Given the description of an element on the screen output the (x, y) to click on. 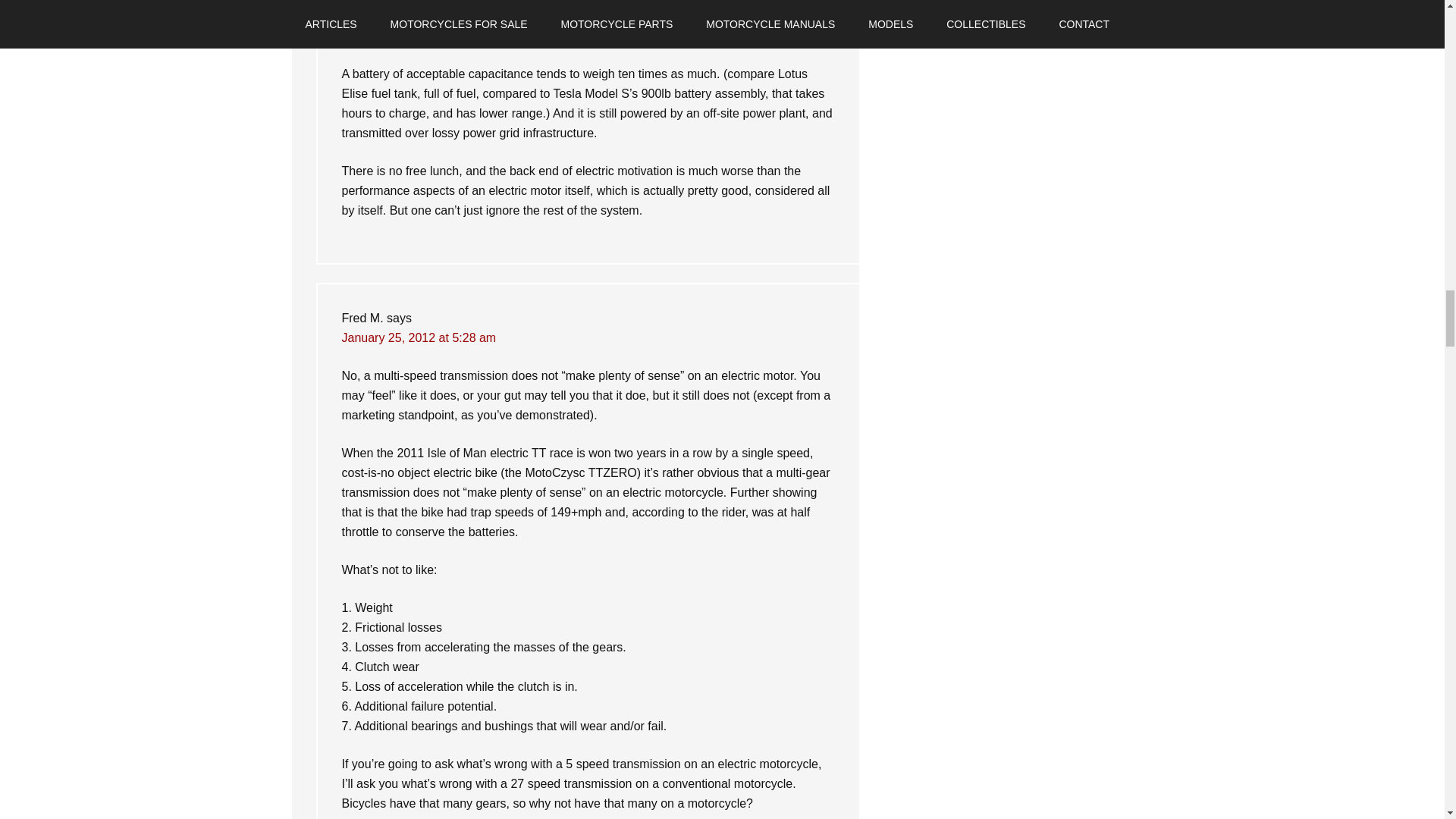
January 25, 2012 at 5:28 am (418, 337)
